Given the description of an element on the screen output the (x, y) to click on. 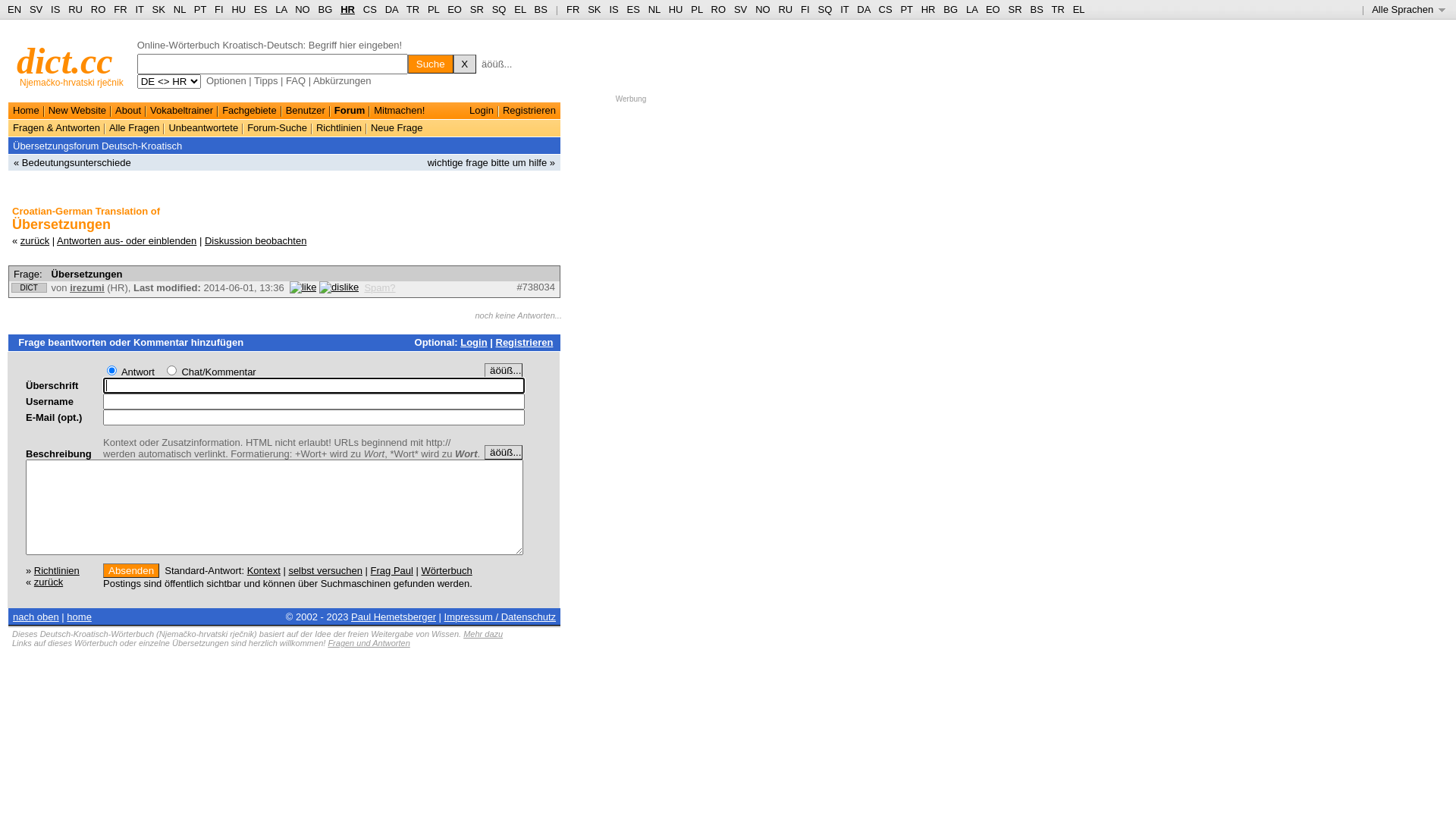
BS Element type: text (540, 9)
SR Element type: text (1015, 9)
LA Element type: text (971, 9)
HR Element type: text (347, 9)
Neue Frage Element type: text (396, 127)
EL Element type: text (519, 9)
SQ Element type: text (499, 9)
IT Element type: text (138, 9)
Forum-Suche Element type: text (277, 127)
Kontext Element type: text (263, 569)
SR Element type: text (476, 9)
EL Element type: text (1079, 9)
CS Element type: text (884, 9)
Mitmachen! Element type: text (398, 110)
Suche Element type: text (430, 63)
IS Element type: text (54, 9)
EO Element type: text (454, 9)
FI Element type: text (218, 9)
Fragen & Antworten Element type: text (56, 127)
Absenden Element type: text (131, 569)
Vokabeltrainer Element type: text (181, 110)
DA Element type: text (862, 9)
Frag Paul Element type: text (391, 569)
Alle Fragen Element type: text (134, 127)
irezumi Element type: text (86, 287)
Optionen Element type: text (226, 80)
CS Element type: text (369, 9)
Spam? Element type: text (379, 287)
BS Element type: text (1035, 9)
Benutzer Element type: text (305, 110)
HR Element type: text (928, 9)
BG Element type: text (325, 9)
EN Element type: text (14, 9)
Richtlinien Element type: text (338, 127)
Mehr dazu Element type: text (482, 633)
selbst versuchen Element type: text (325, 569)
Forum Element type: text (349, 110)
nach oben Element type: text (35, 616)
Login Element type: text (473, 342)
Antworten aus- oder einblenden Element type: text (126, 240)
NO Element type: text (762, 9)
Paul Hemetsberger Element type: text (393, 616)
ES Element type: text (260, 9)
Unbeantwortete Element type: text (203, 127)
RU Element type: text (75, 9)
home Element type: text (78, 616)
PL Element type: text (696, 9)
SV Element type: text (740, 9)
Impressum / Datenschutz Element type: text (499, 616)
HU Element type: text (675, 9)
EO Element type: text (992, 9)
LA Element type: text (280, 9)
IS Element type: text (613, 9)
NL Element type: text (654, 9)
FAQ Element type: text (295, 80)
FR Element type: text (119, 9)
BG Element type: text (950, 9)
Diskussion beobachten Element type: text (255, 240)
DA Element type: text (391, 9)
Registrieren Element type: text (528, 110)
Registrieren Element type: text (524, 342)
SK Element type: text (593, 9)
PT Element type: text (200, 9)
New Website Element type: text (77, 110)
Home Element type: text (25, 110)
Login Element type: text (481, 110)
FR Element type: text (572, 9)
NO Element type: text (302, 9)
RU Element type: text (785, 9)
About Element type: text (128, 110)
Tipps Element type: text (265, 80)
NL Element type: text (179, 9)
PL Element type: text (433, 9)
dict.cc Element type: text (64, 60)
X Element type: text (464, 63)
Fachgebiete Element type: text (249, 110)
PT Element type: text (906, 9)
IT Element type: text (844, 9)
SV Element type: text (35, 9)
ES Element type: text (633, 9)
SK Element type: text (158, 9)
Alle Sprachen  Element type: text (1408, 9)
Fragen und Antworten Element type: text (368, 642)
TR Element type: text (412, 9)
RO Element type: text (718, 9)
Richtlinien Element type: text (56, 569)
SQ Element type: text (824, 9)
TR Element type: text (1057, 9)
FI Element type: text (804, 9)
HU Element type: text (238, 9)
DICT Element type: text (28, 287)
RO Element type: text (98, 9)
#738034 Element type: text (535, 286)
